Given the description of an element on the screen output the (x, y) to click on. 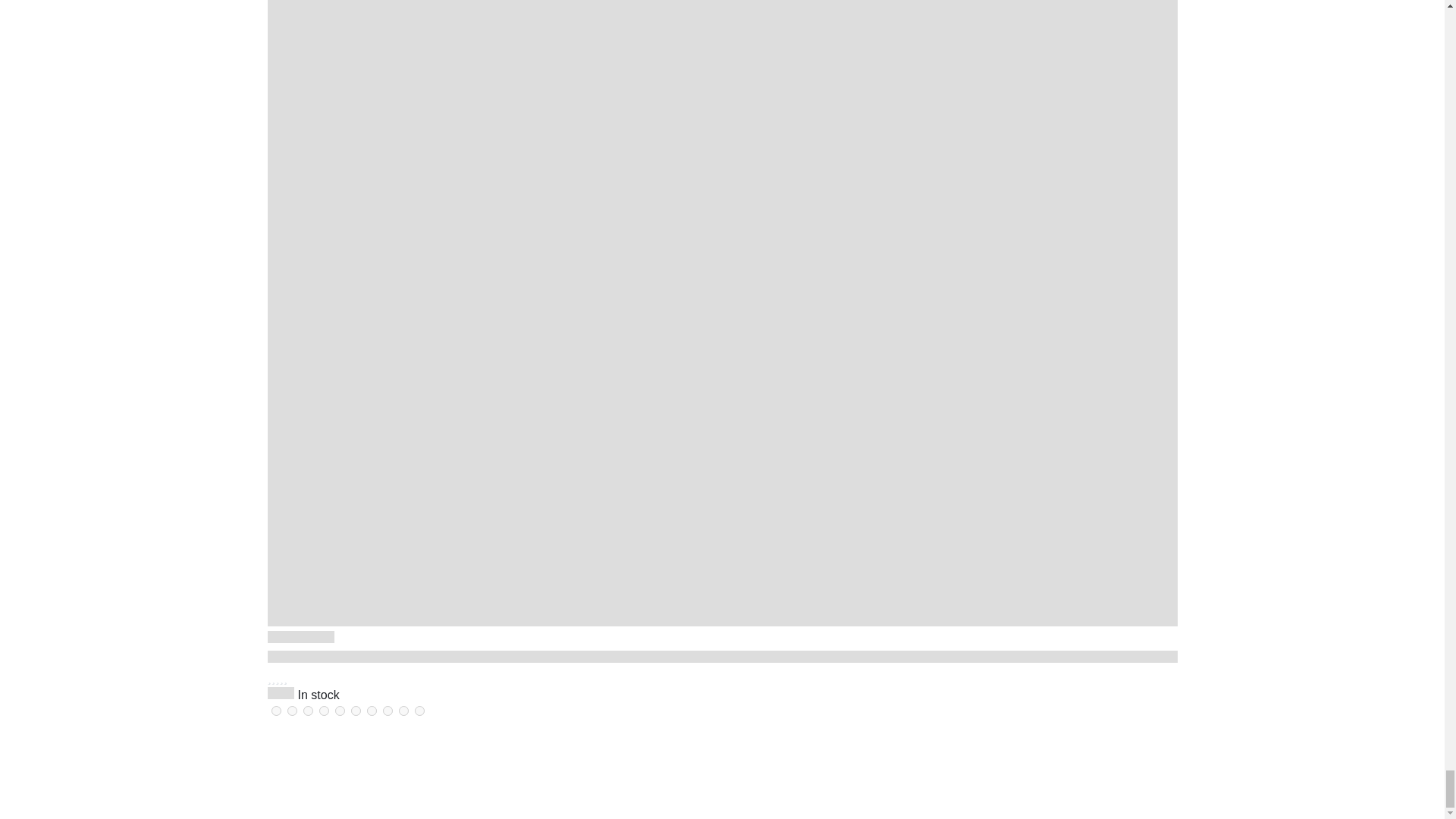
on (291, 710)
on (307, 710)
on (386, 710)
on (371, 710)
on (403, 710)
on (339, 710)
on (275, 710)
on (323, 710)
on (354, 710)
